Given the description of an element on the screen output the (x, y) to click on. 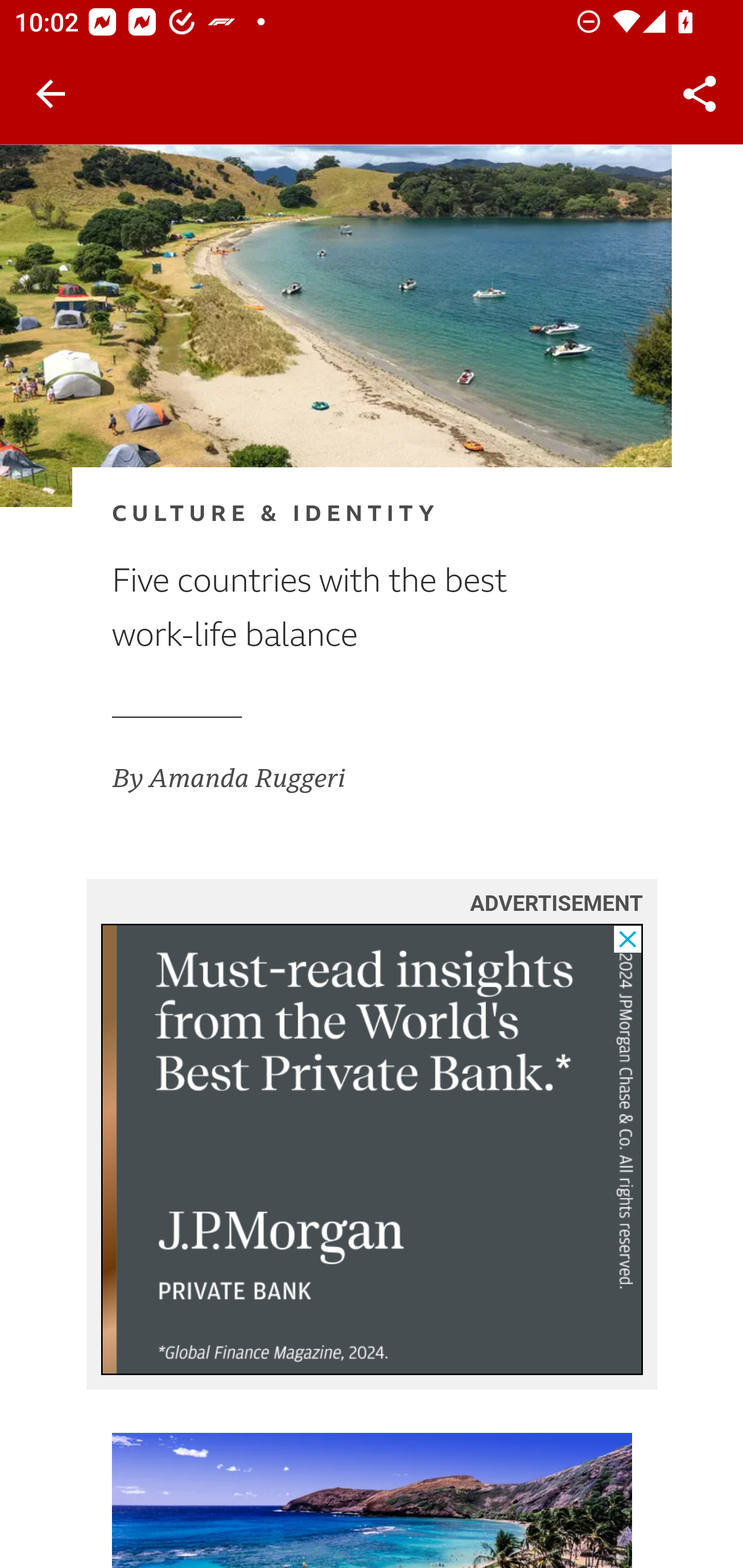
Back (50, 93)
Share (699, 93)
CULTURE & IDENTITY (339, 514)
Five countries with the best work-life balance (339, 608)
